Given the description of an element on the screen output the (x, y) to click on. 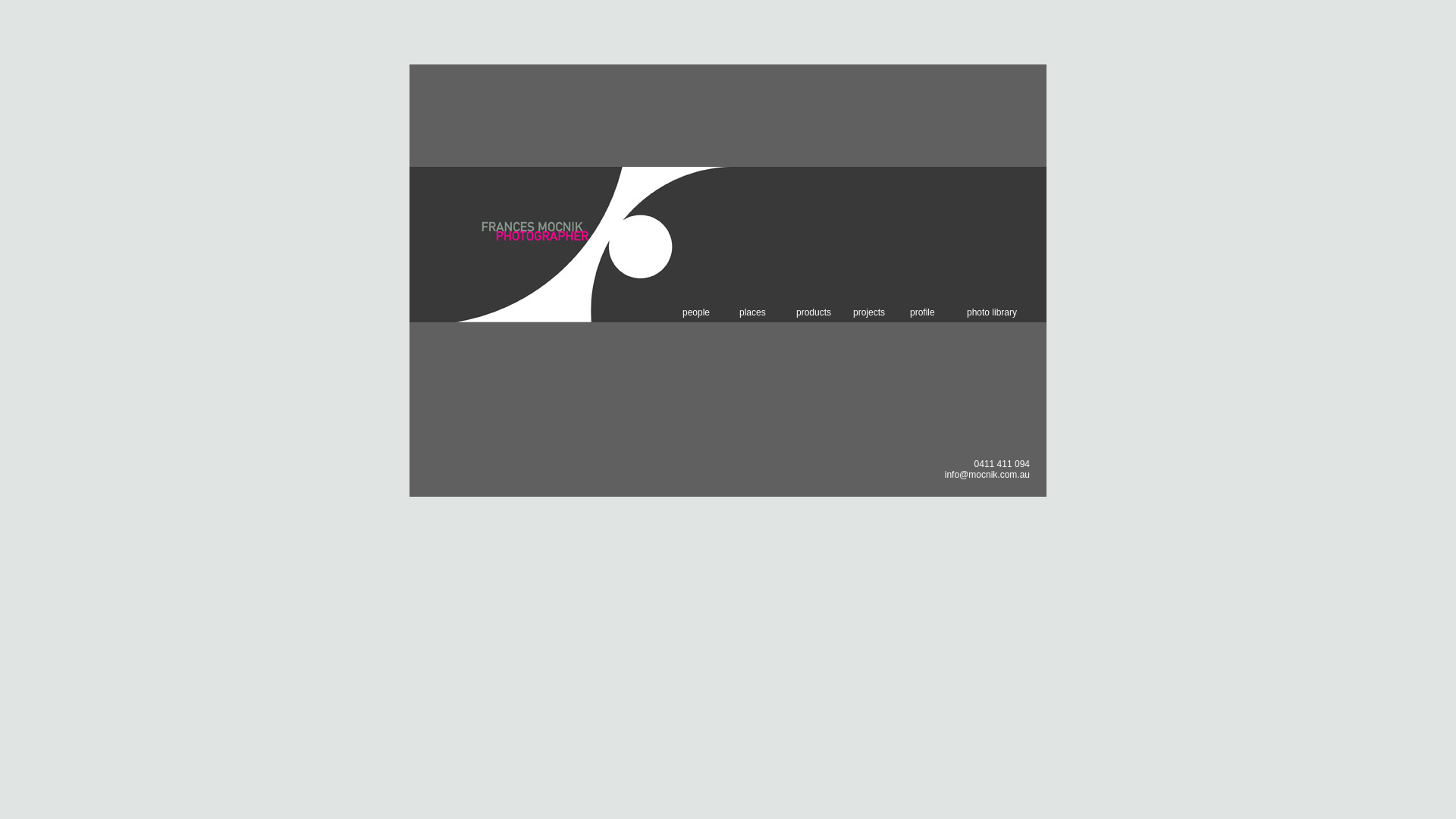
products Element type: text (824, 312)
people Element type: text (710, 312)
profile Element type: text (938, 312)
photo library Element type: text (994, 312)
projects Element type: text (881, 312)
info@mocnik.com.au Element type: text (986, 474)
places Element type: text (767, 312)
